Given the description of an element on the screen output the (x, y) to click on. 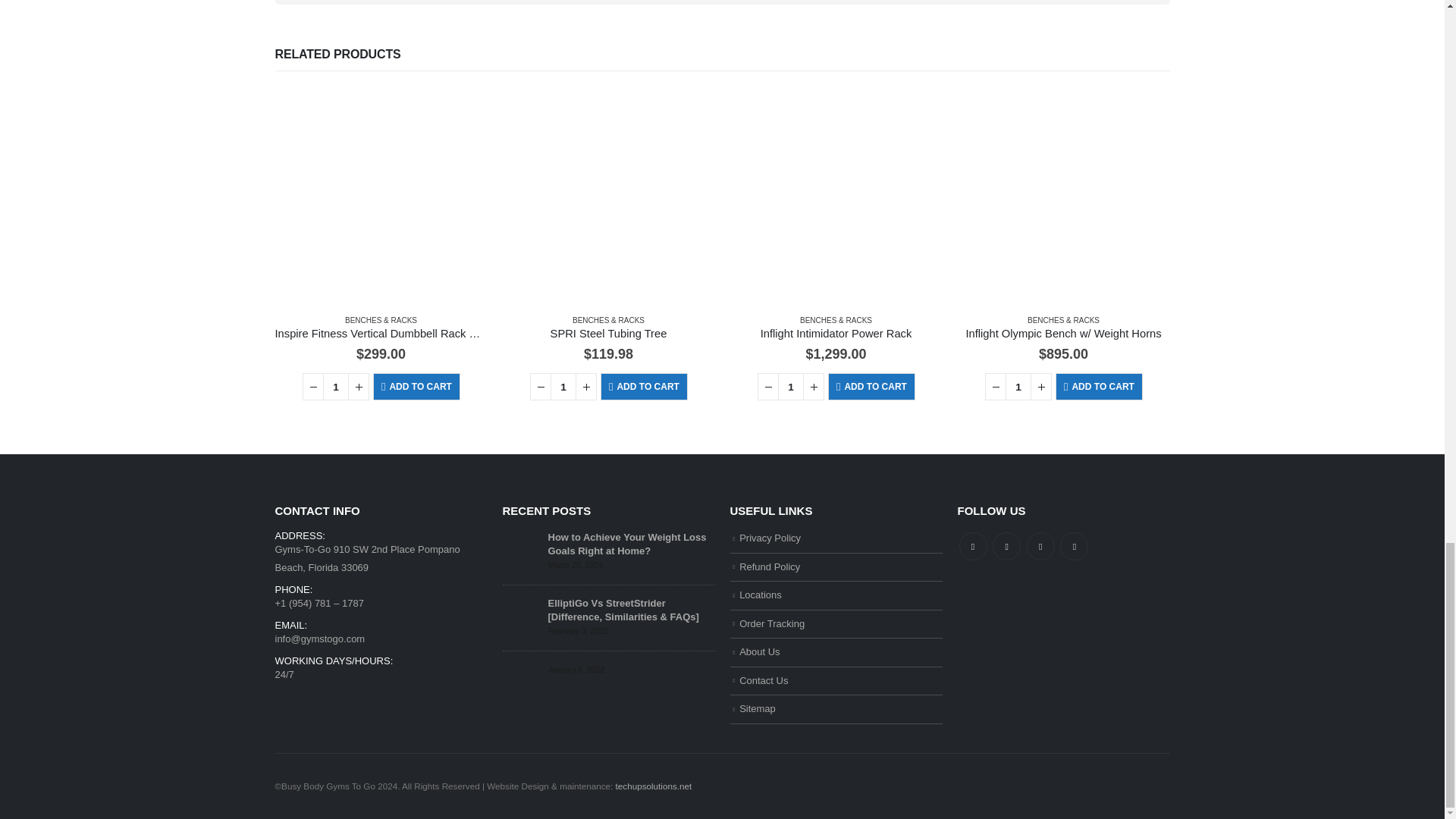
1 (790, 386)
1 (336, 386)
1 (563, 386)
1 (1018, 386)
